Given the description of an element on the screen output the (x, y) to click on. 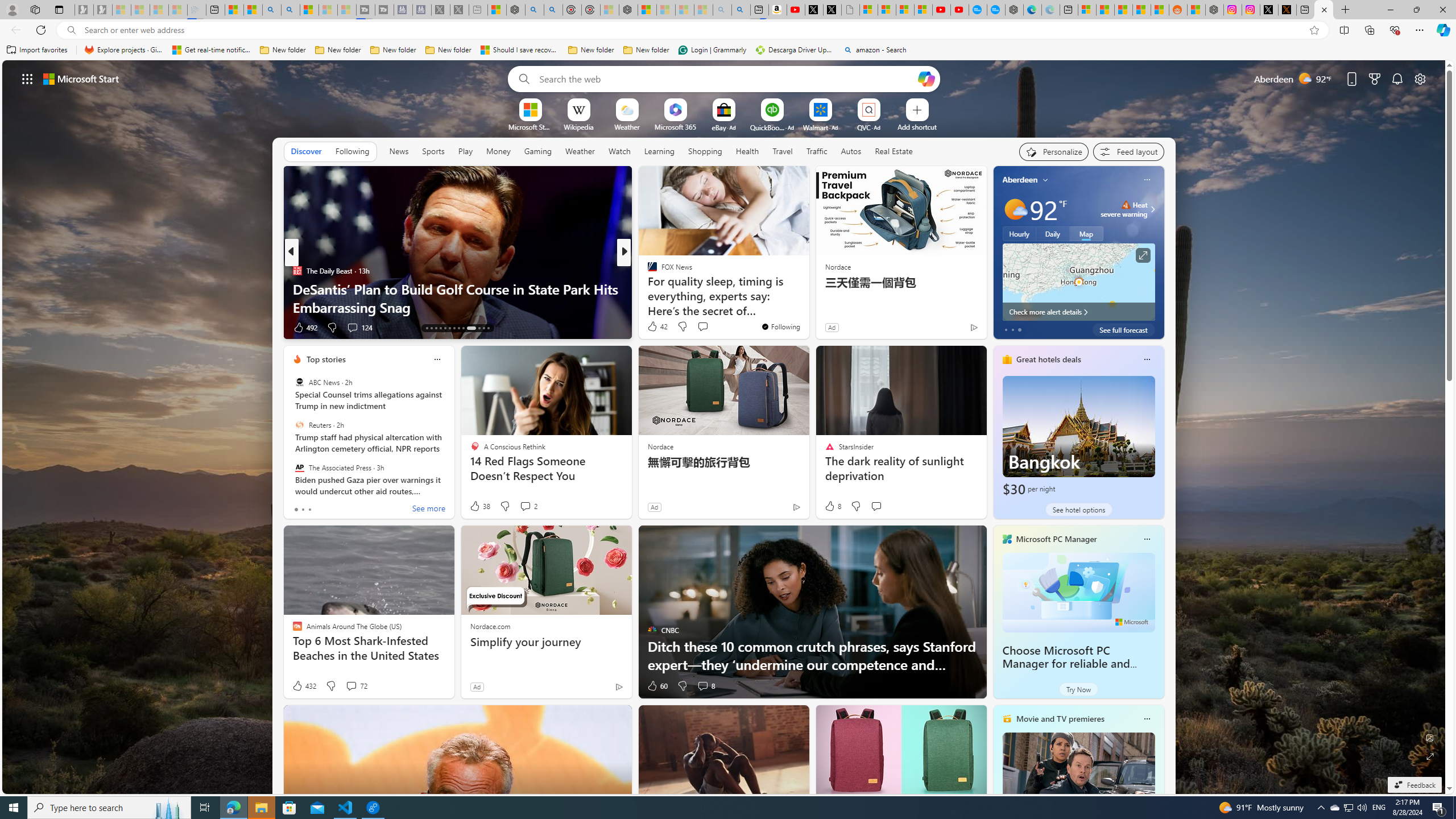
poe ++ standard - Search (552, 9)
View comments 72 Comment (355, 685)
AutomationID: tab-24 (483, 328)
Class: weather-arrow-glyph (1152, 208)
Weather (579, 151)
View comments 3 Comment (6, 327)
You're following FOX News (780, 326)
Microsoft account | Microsoft Account Privacy Settings (1086, 9)
Newsletter Sign Up - Sleeping (102, 9)
Movie and TV premieres (1060, 718)
